Given the description of an element on the screen output the (x, y) to click on. 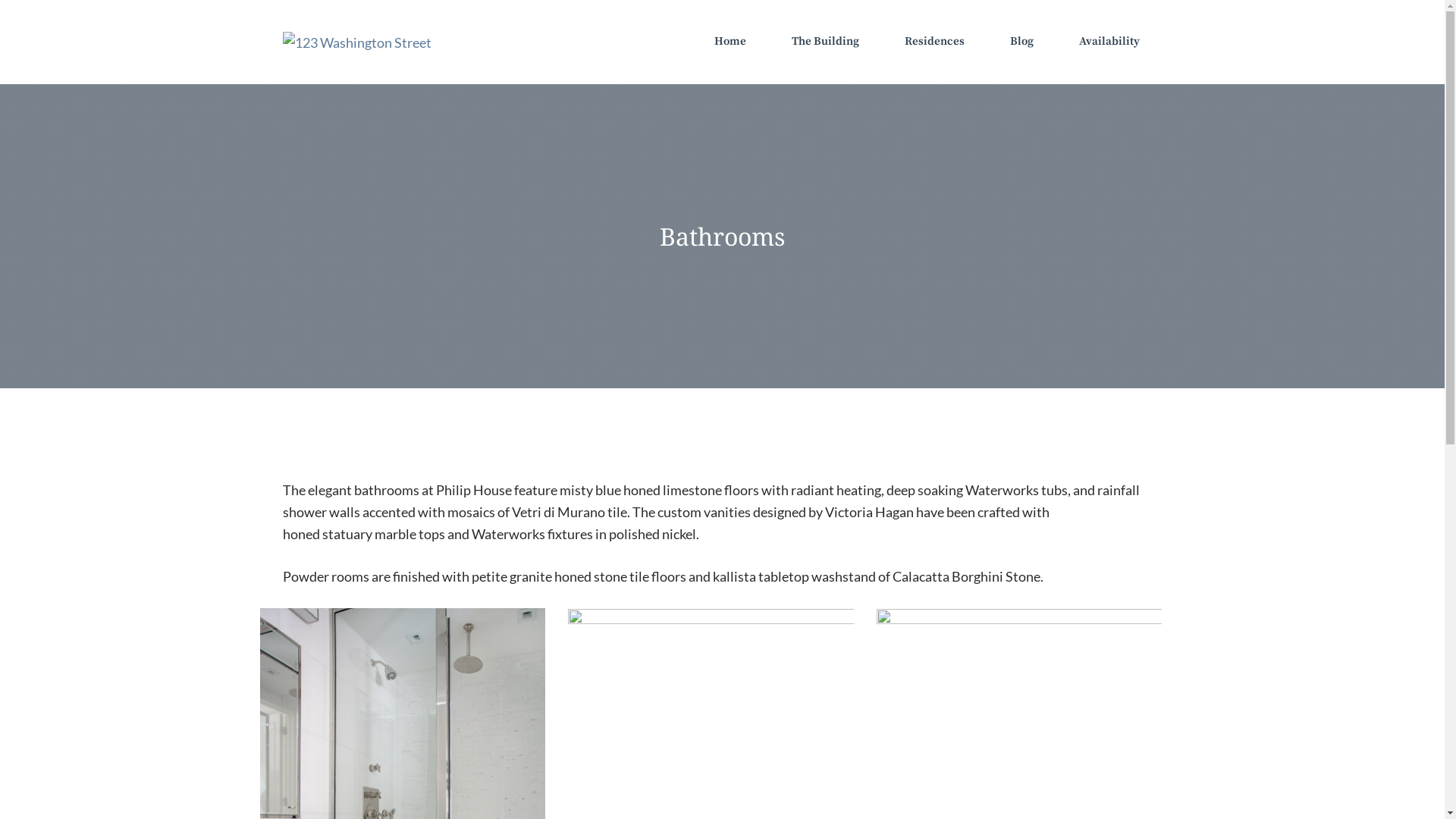
Availability Element type: text (1108, 41)
The Building Element type: text (824, 41)
123 Washington Street Element type: hover (356, 42)
Blog Element type: text (1021, 41)
123 Washington Street Element type: hover (356, 40)
Home Element type: text (729, 41)
Residences Element type: text (933, 41)
